Given the description of an element on the screen output the (x, y) to click on. 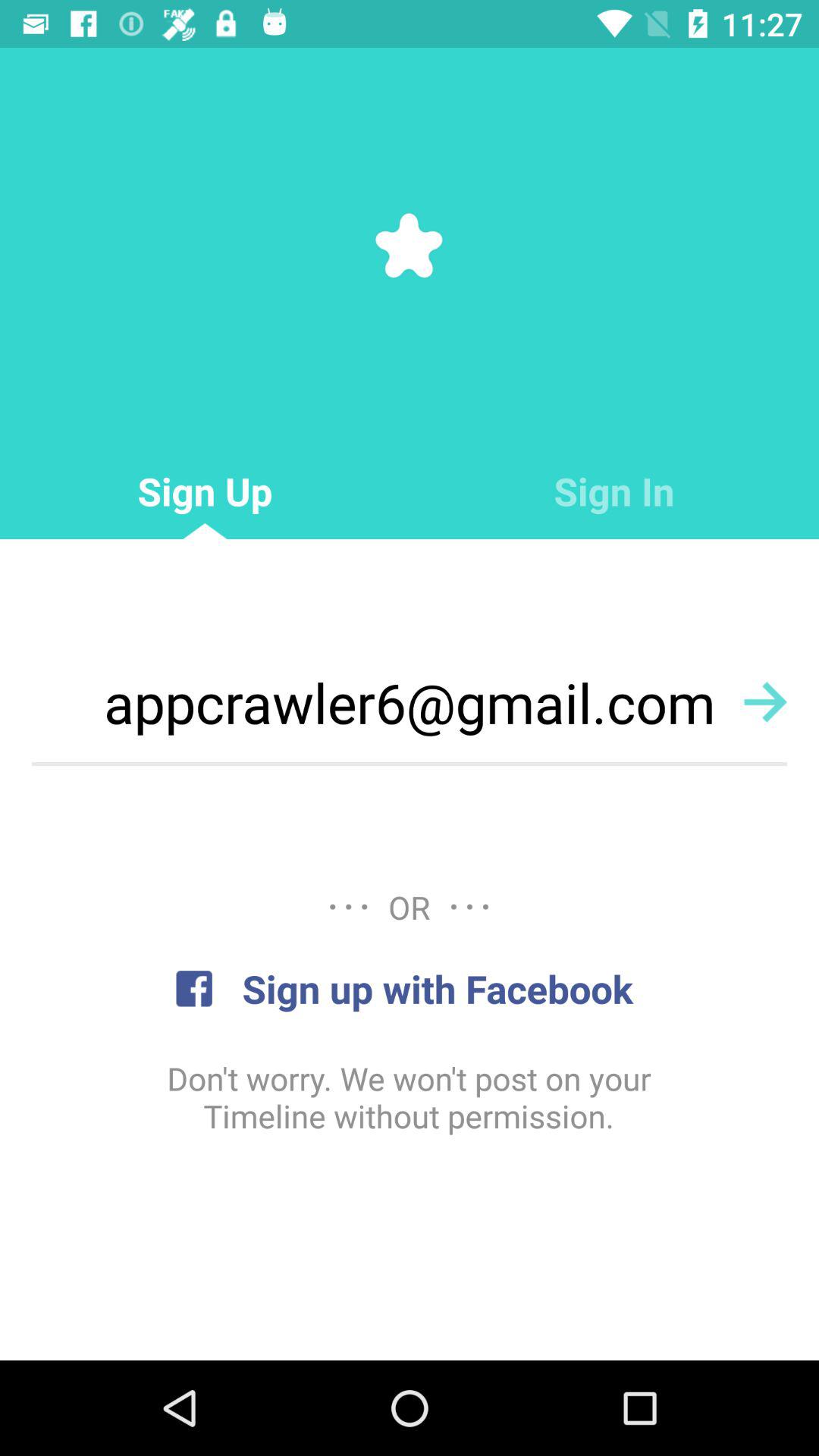
tap the sign in (614, 491)
